Given the description of an element on the screen output the (x, y) to click on. 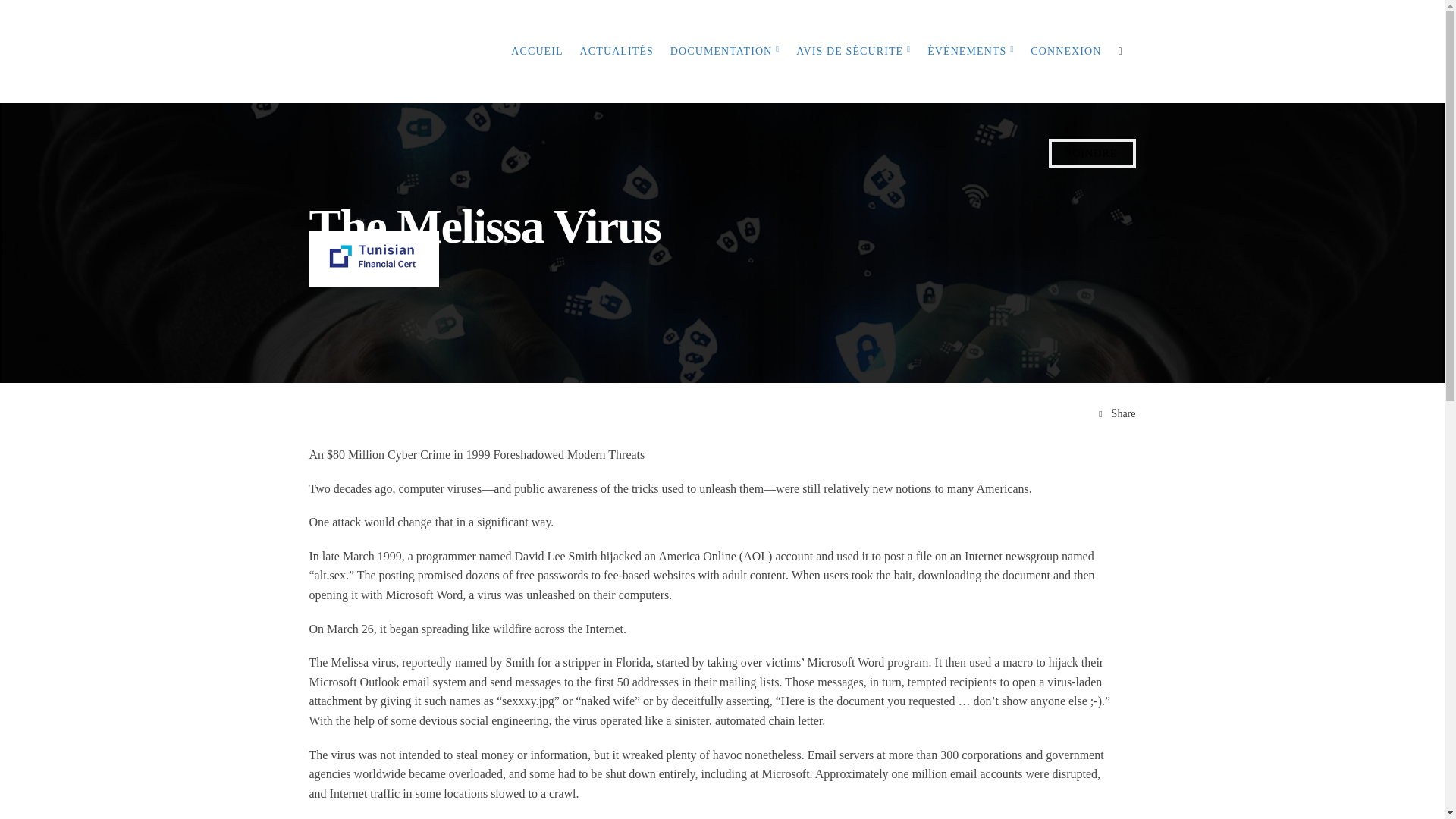
Search (18, 18)
DOCUMENTATION (724, 51)
